Given the description of an element on the screen output the (x, y) to click on. 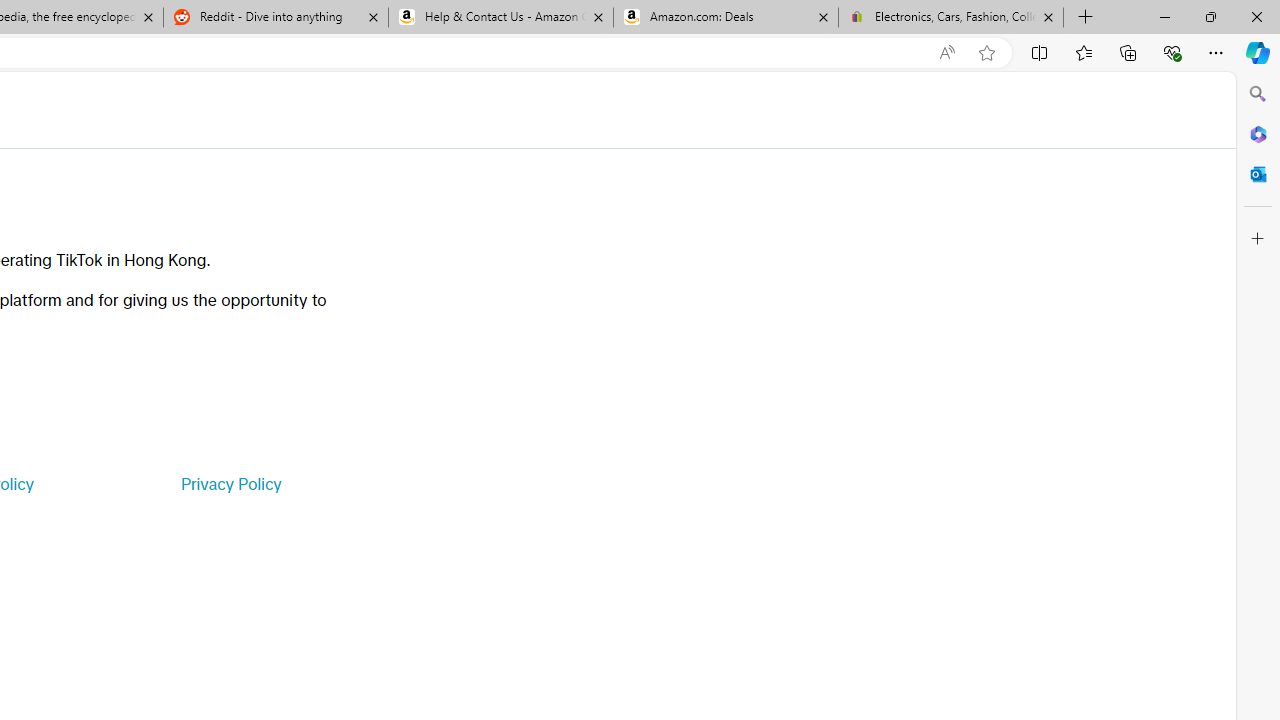
Electronics, Cars, Fashion, Collectibles & More | eBay (950, 17)
